Given the description of an element on the screen output the (x, y) to click on. 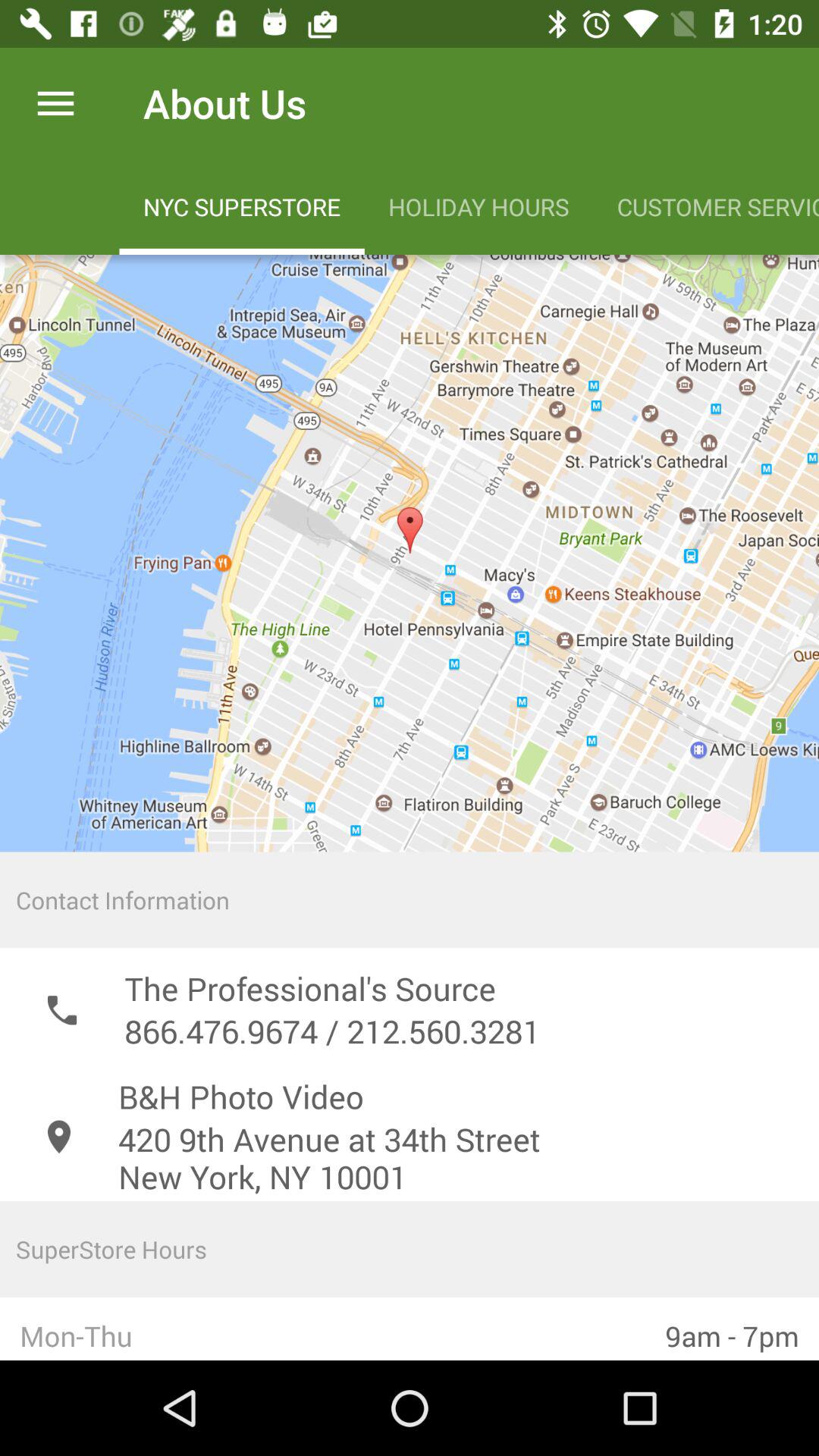
select the 9am - 7pm item (732, 1328)
